Given the description of an element on the screen output the (x, y) to click on. 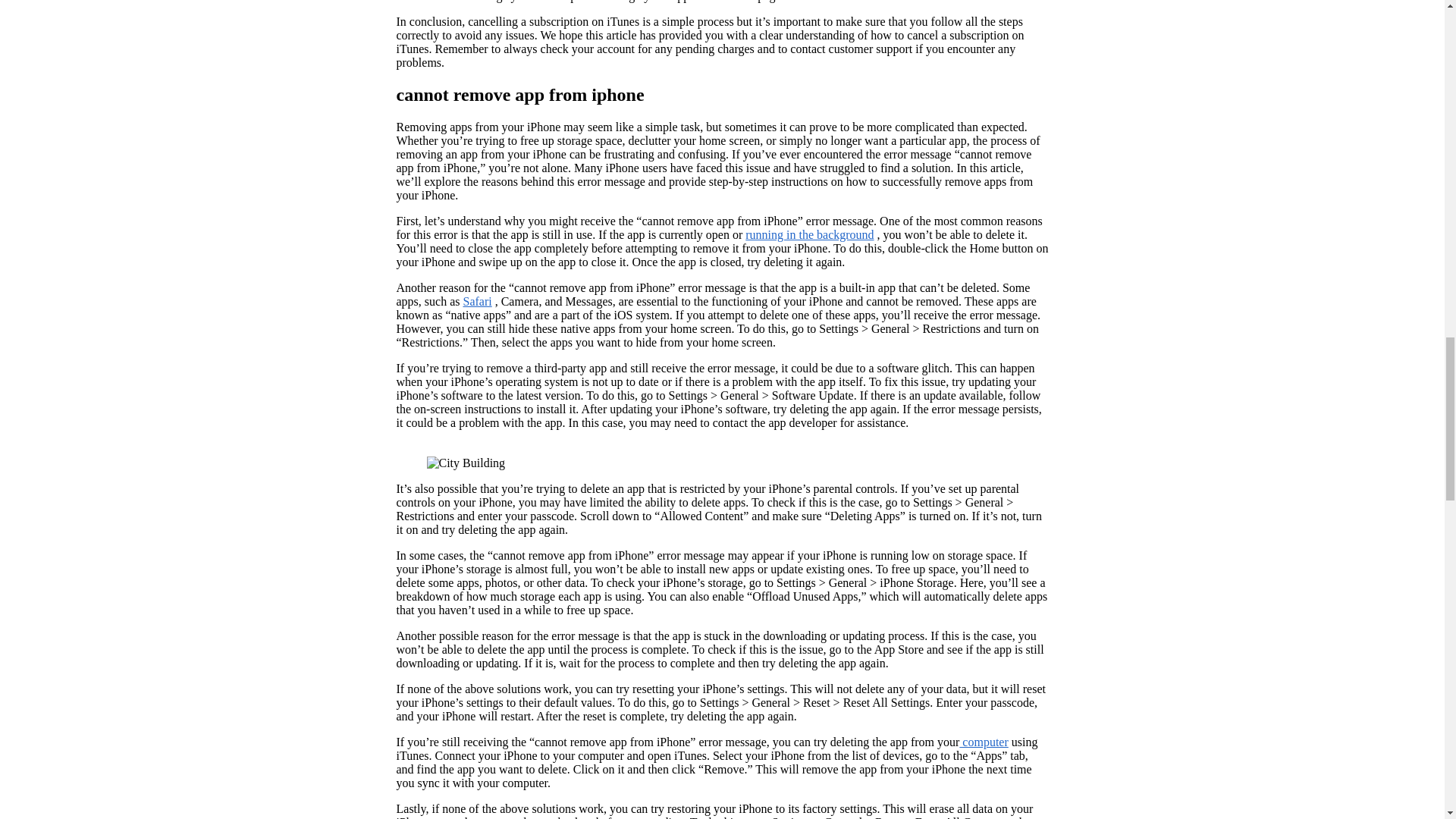
computer (983, 741)
running in the background (809, 234)
City Building (465, 463)
Safari (477, 300)
